Given the description of an element on the screen output the (x, y) to click on. 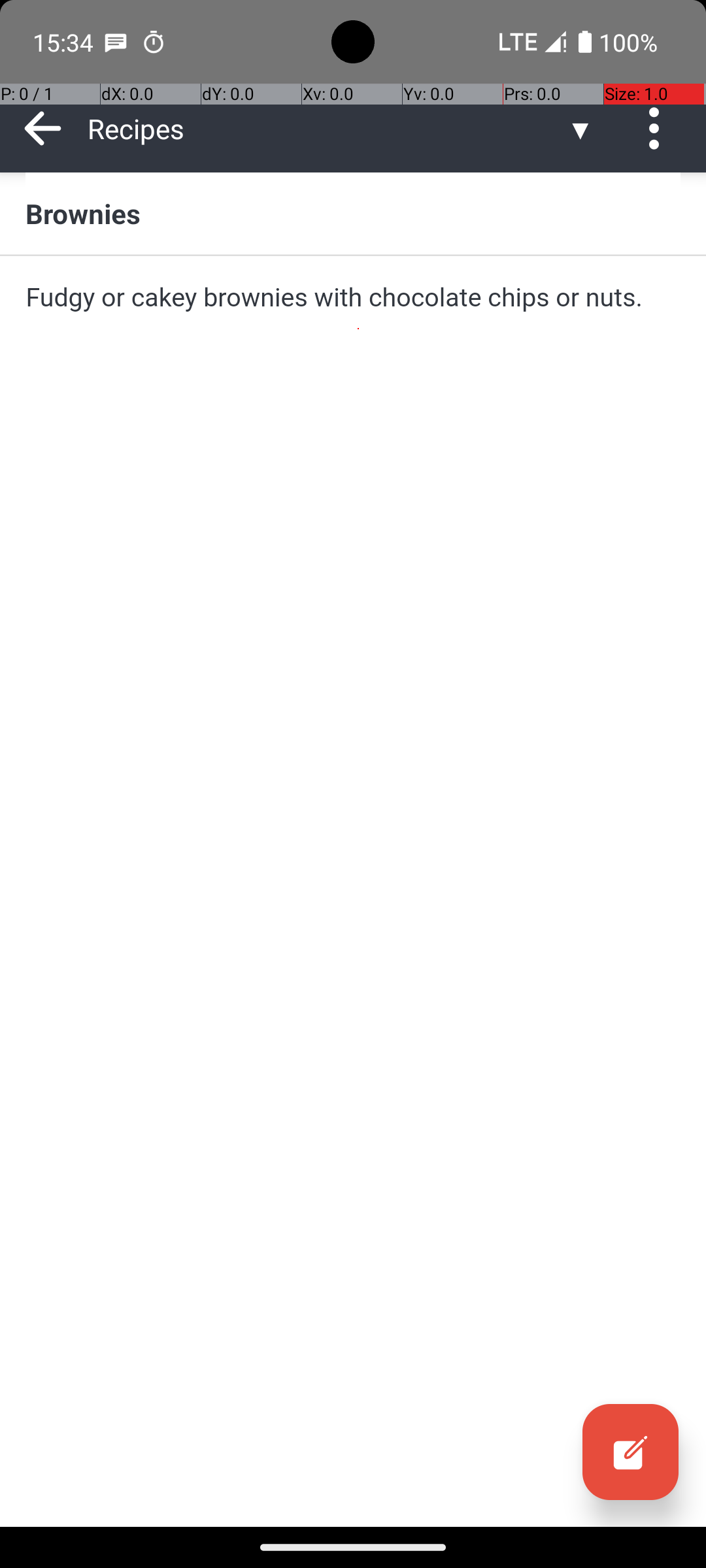
Brownies Element type: android.widget.EditText (352, 213)
Fudgy or cakey brownies with chocolate chips or nuts. Element type: android.widget.TextView (352, 296)
